Given the description of an element on the screen output the (x, y) to click on. 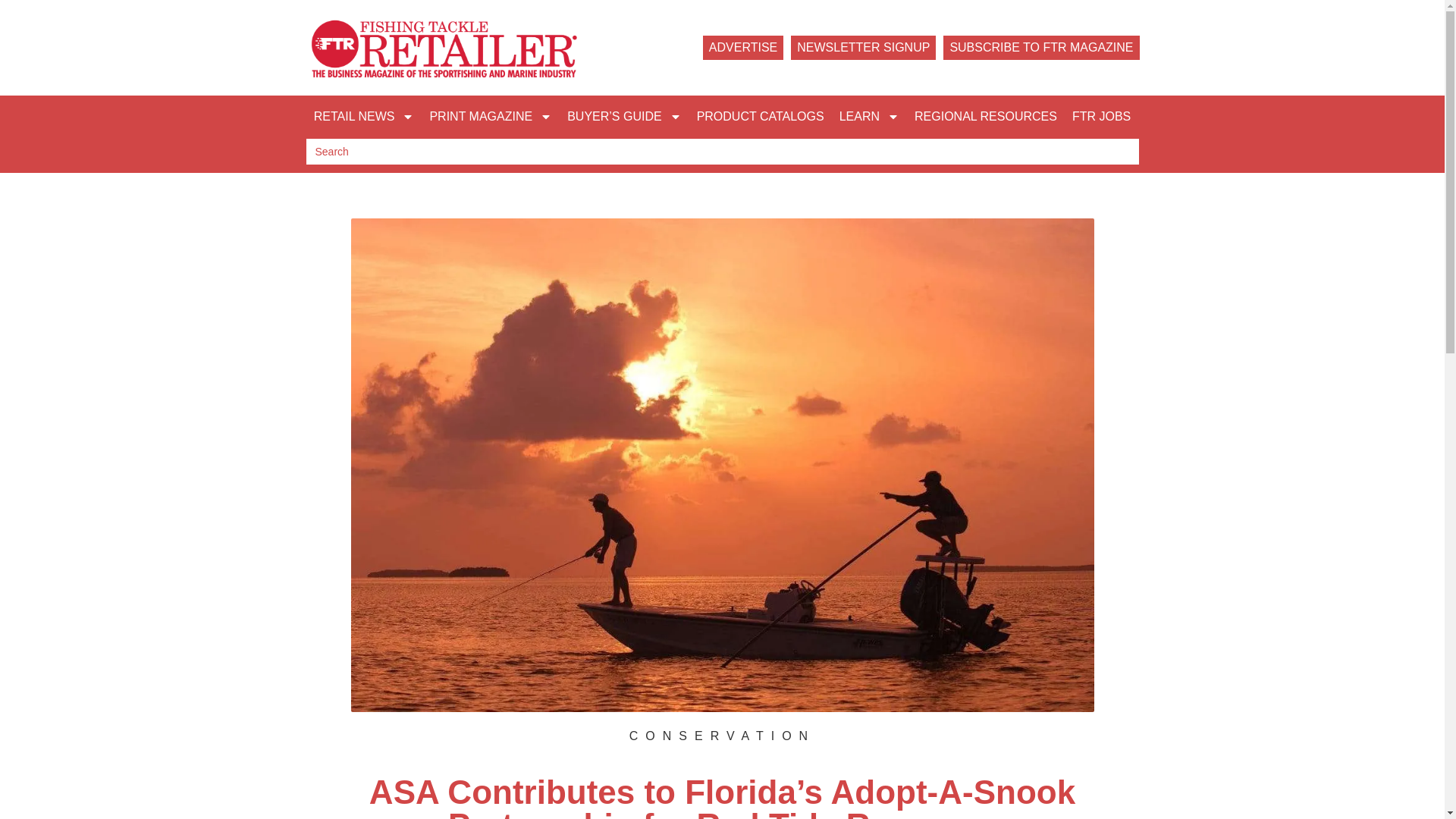
FTR JOBS (1101, 116)
ADVERTISE (743, 47)
REGIONAL RESOURCES (985, 116)
PRINT MAGAZINE (490, 116)
RETAIL NEWS (363, 116)
PRODUCT CATALOGS (759, 116)
LEARN (869, 116)
SUBSCRIBE TO FTR MAGAZINE (1040, 47)
NEWSLETTER SIGNUP (863, 47)
